Given the description of an element on the screen output the (x, y) to click on. 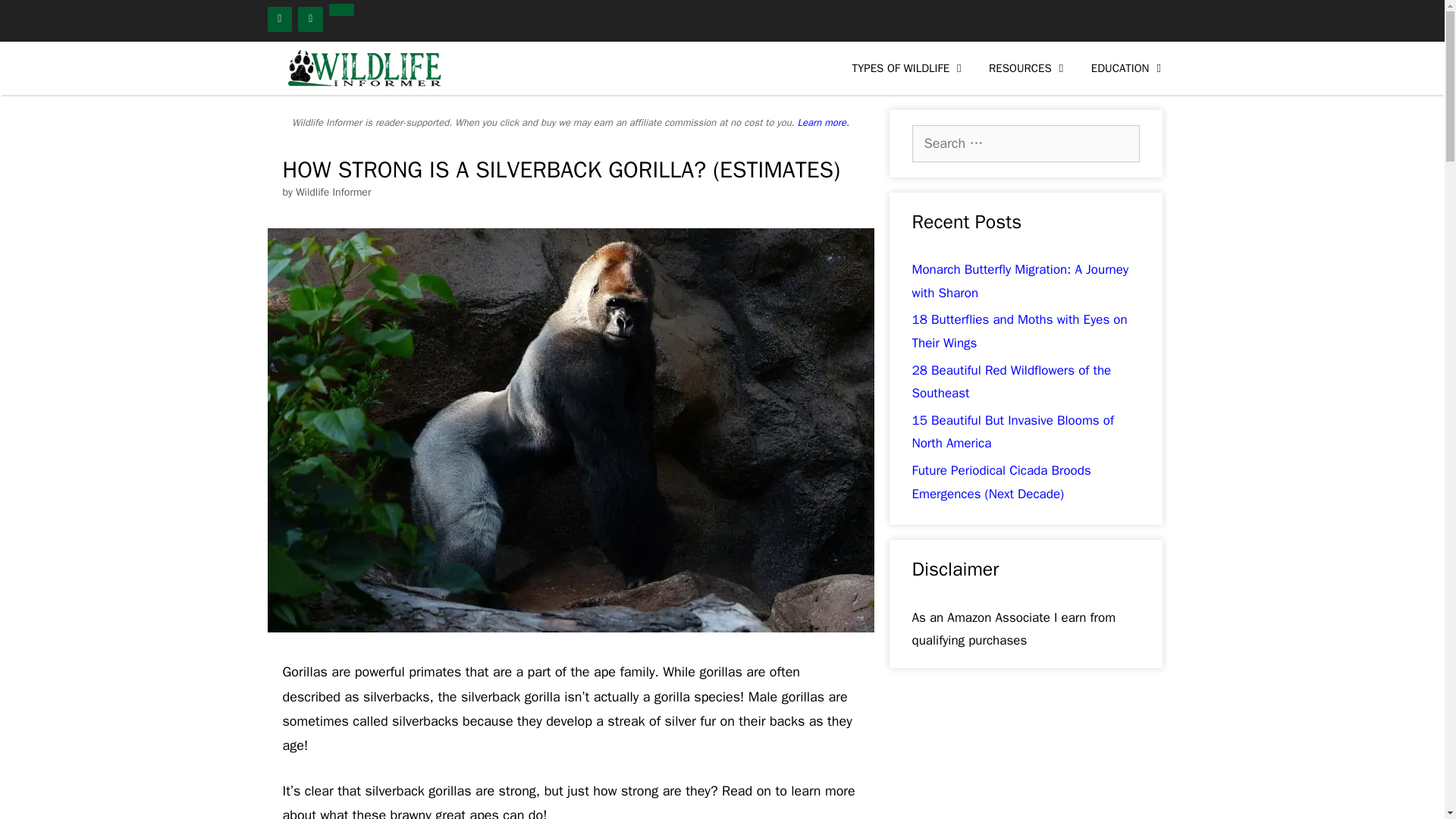
View all posts by Wildlife Informer (333, 192)
Wildlife Informer (361, 68)
Pinterest (341, 9)
RESOURCES (1028, 68)
Wildlife Informer (365, 68)
YouTube (310, 18)
Search for: (1024, 143)
TYPES OF WILDLIFE (908, 68)
Facebook (279, 18)
